Given the description of an element on the screen output the (x, y) to click on. 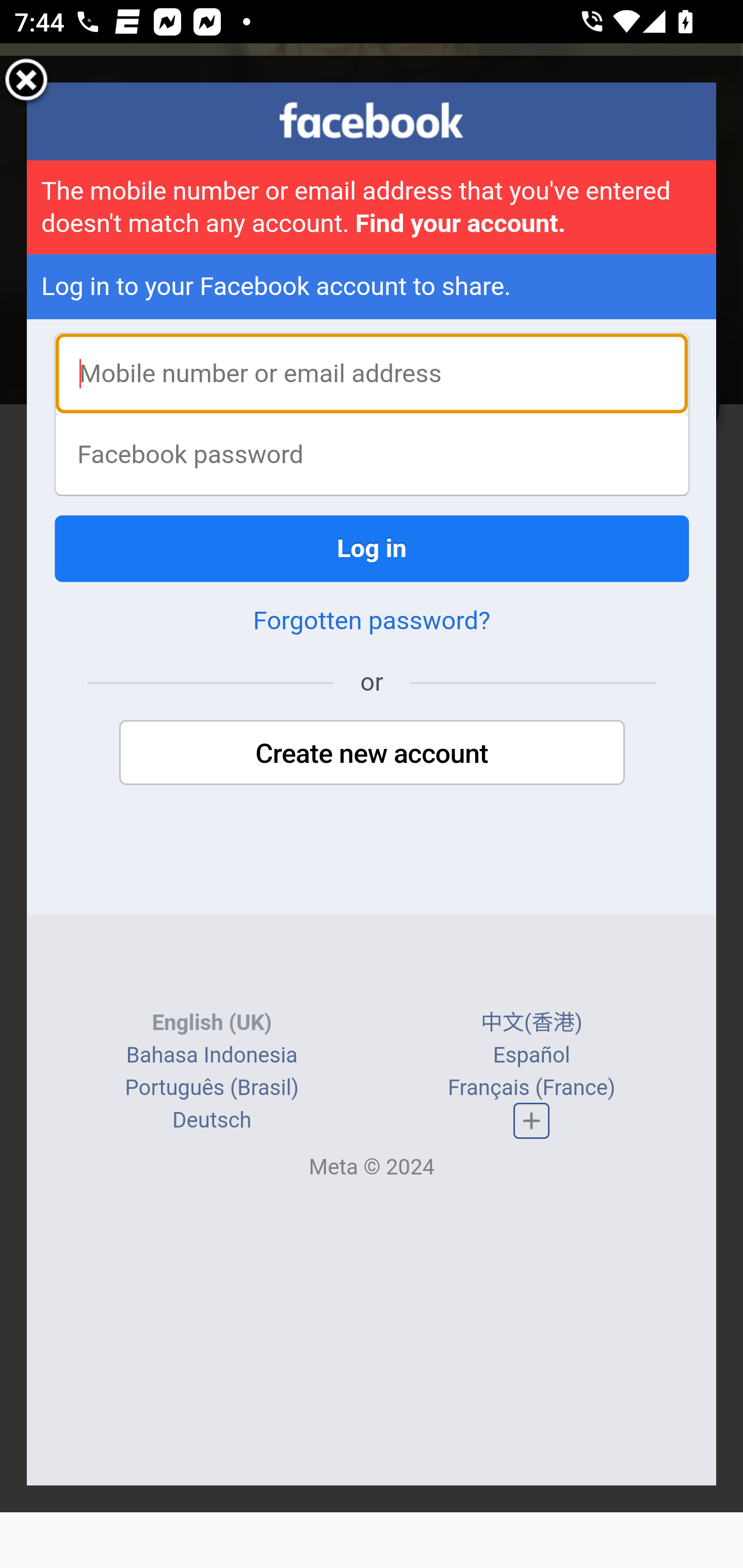
facebook (372, 121)
Log in (372, 549)
Forgotten password? (371, 622)
Create new account (371, 754)
中文(香港) (531, 1023)
Bahasa Indonesia (210, 1055)
Español (530, 1055)
Português (Brasil) (211, 1088)
Français (France) (530, 1088)
Complete list of languages (531, 1121)
Deutsch (211, 1121)
